Given the description of an element on the screen output the (x, y) to click on. 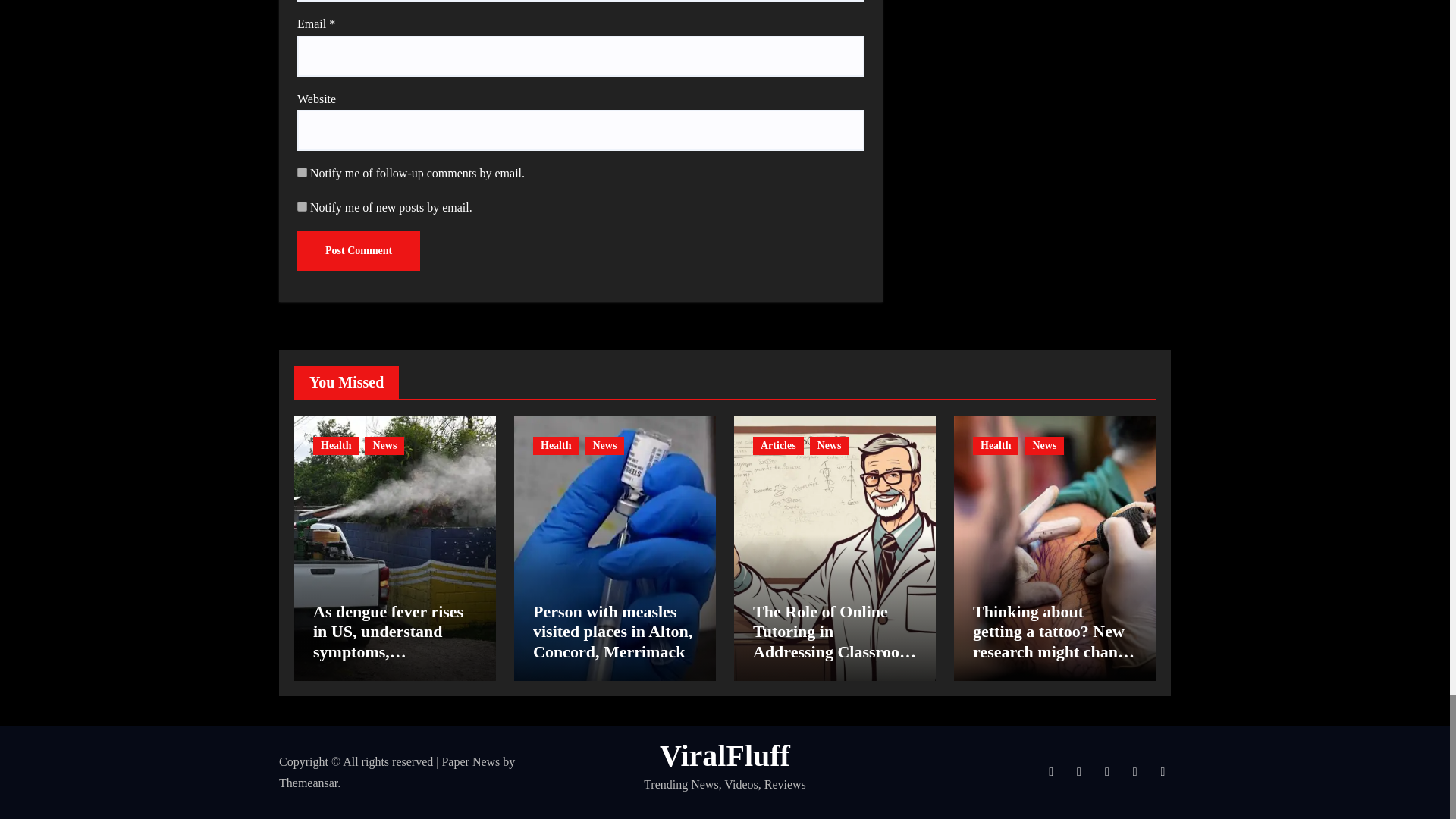
subscribe (302, 206)
subscribe (302, 172)
Post Comment (358, 250)
